Given the description of an element on the screen output the (x, y) to click on. 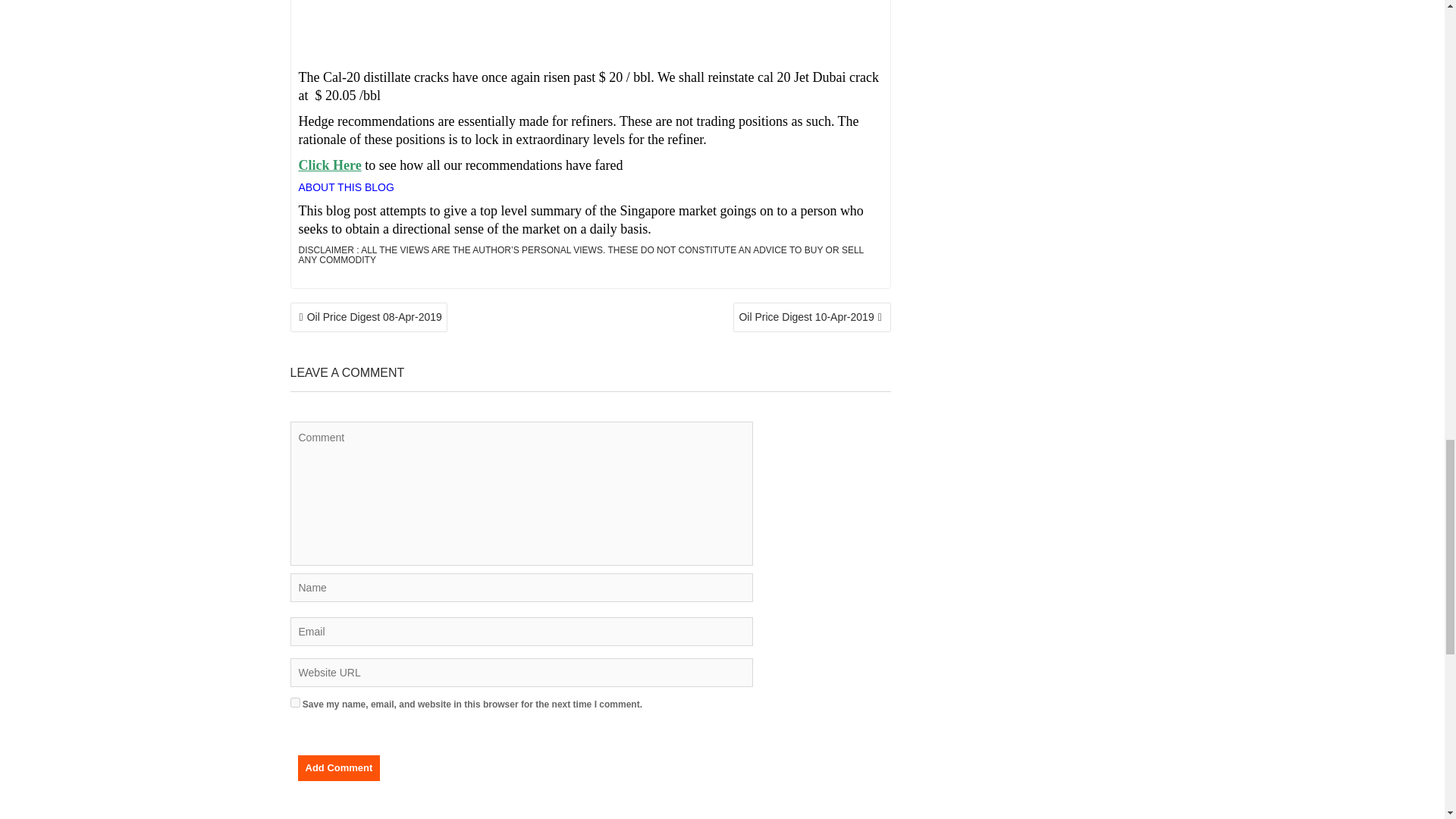
Add Comment (338, 768)
Oil Price Digest 08-Apr-2019 (367, 317)
yes (294, 702)
Click Here (329, 165)
Oil Price Digest 10-Apr-2019 (811, 317)
